Given the description of an element on the screen output the (x, y) to click on. 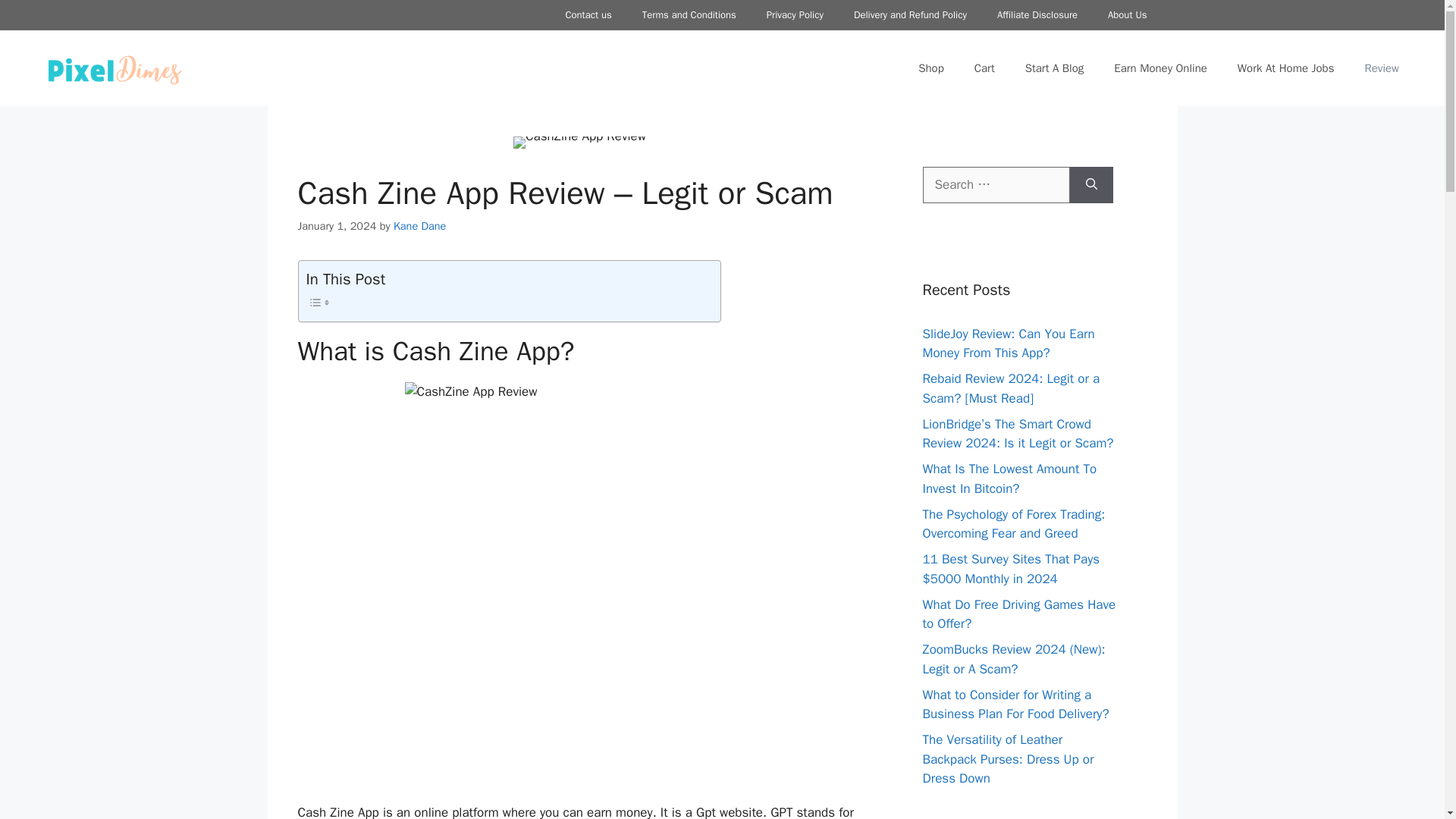
Review (1381, 67)
Shop (930, 67)
Terms and Conditions (689, 15)
Work At Home Jobs (1286, 67)
About Us (1127, 15)
Start A Blog (1054, 67)
Review (1381, 67)
Cart (984, 67)
Contact us (588, 15)
Earn Money Online (1161, 67)
Affiliate Disclosure (1037, 15)
Start A Blog (1054, 67)
Earn Money Online (1161, 67)
Privacy Policy (794, 15)
Delivery and Refund Policy (909, 15)
